Given the description of an element on the screen output the (x, y) to click on. 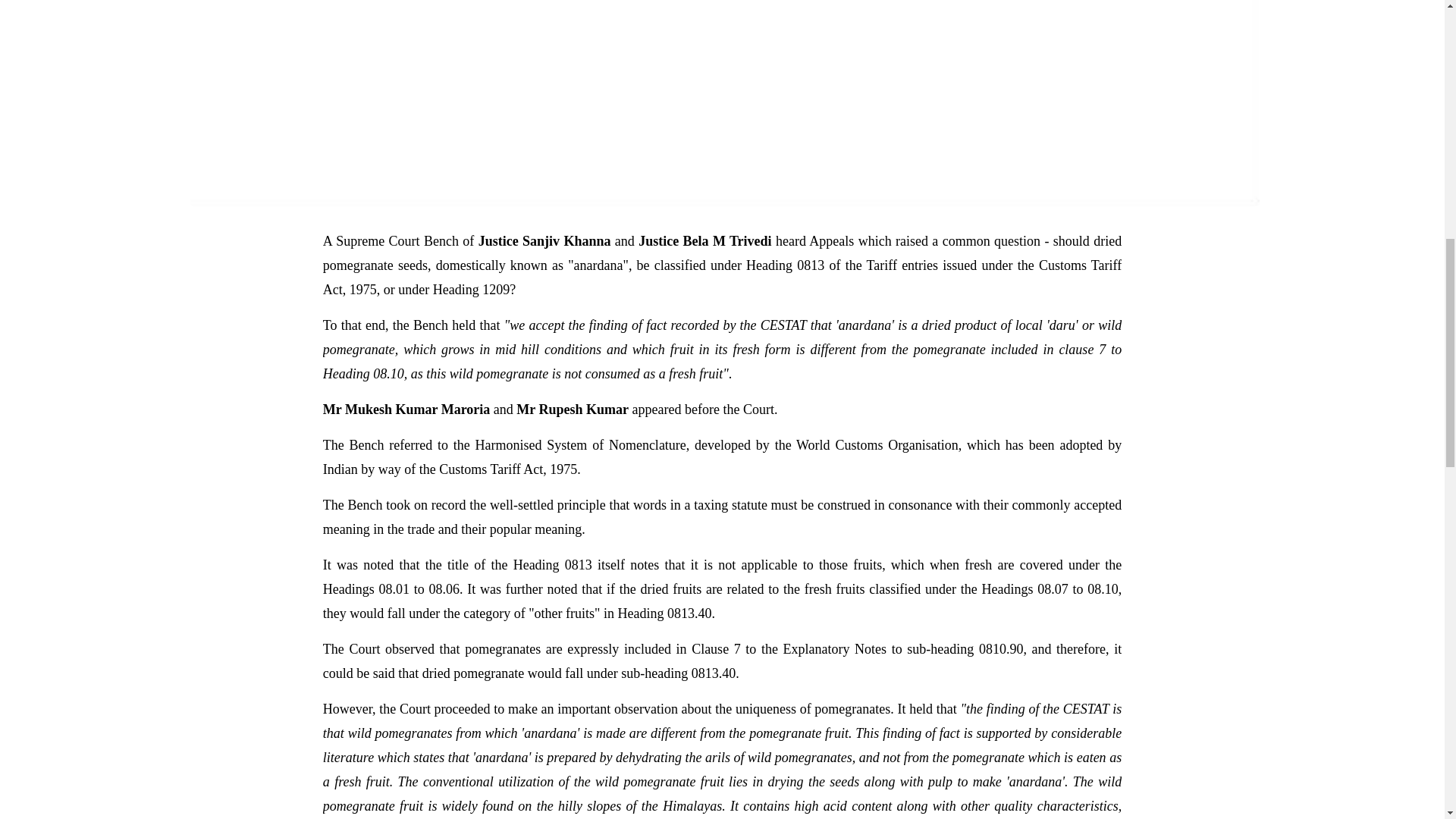
x (7, 7)
